Given the description of an element on the screen output the (x, y) to click on. 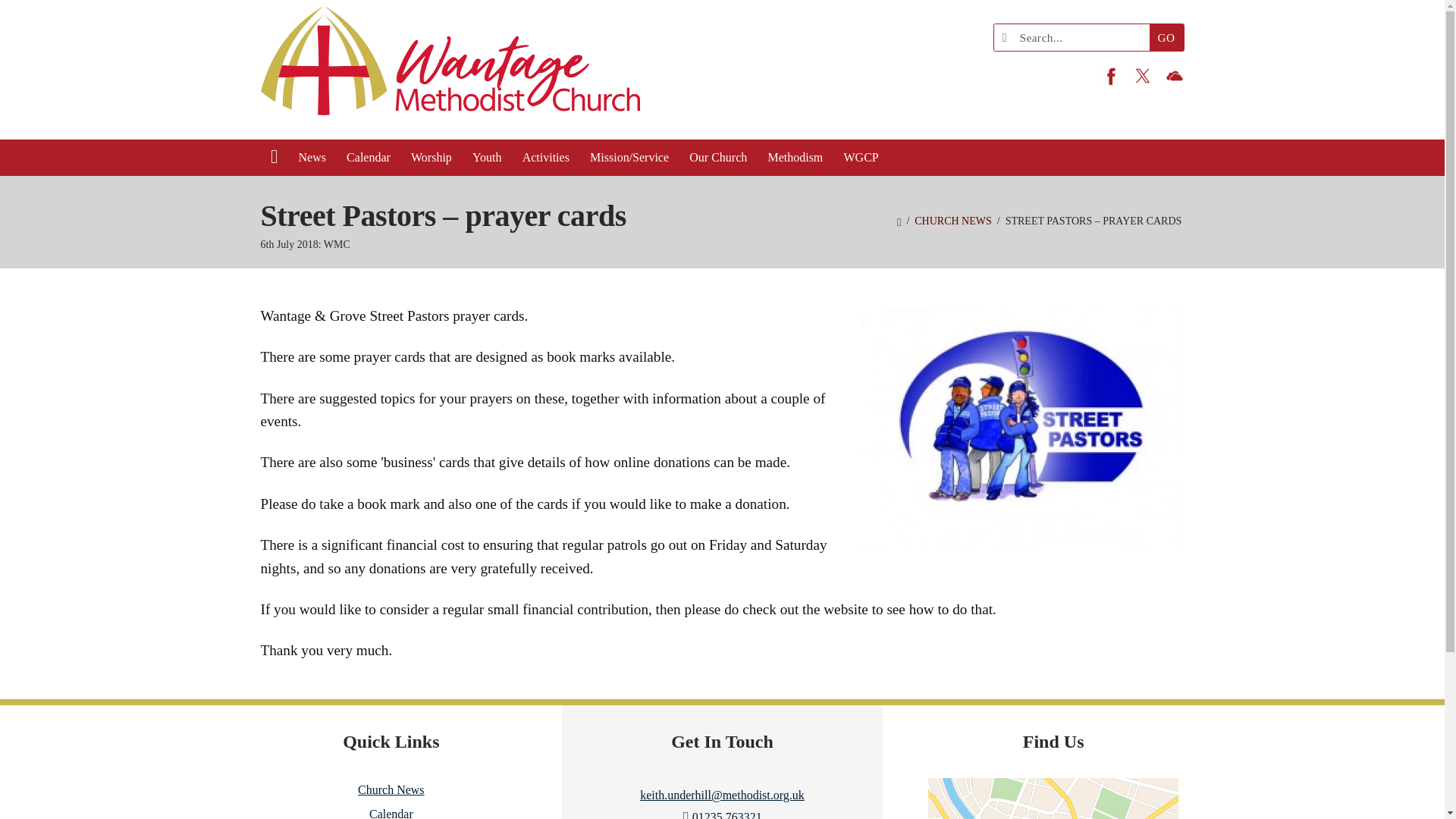
News (312, 157)
Calendar (368, 157)
Search... (1074, 37)
Worship (430, 157)
Call now (727, 814)
Visit our Facebook Page (1110, 75)
Sign into the Cloud (1174, 75)
Visit our X Feed (1142, 75)
Youth (486, 157)
Activities (545, 157)
GO (1166, 37)
Wantage Methodist Church Home (450, 69)
